Given the description of an element on the screen output the (x, y) to click on. 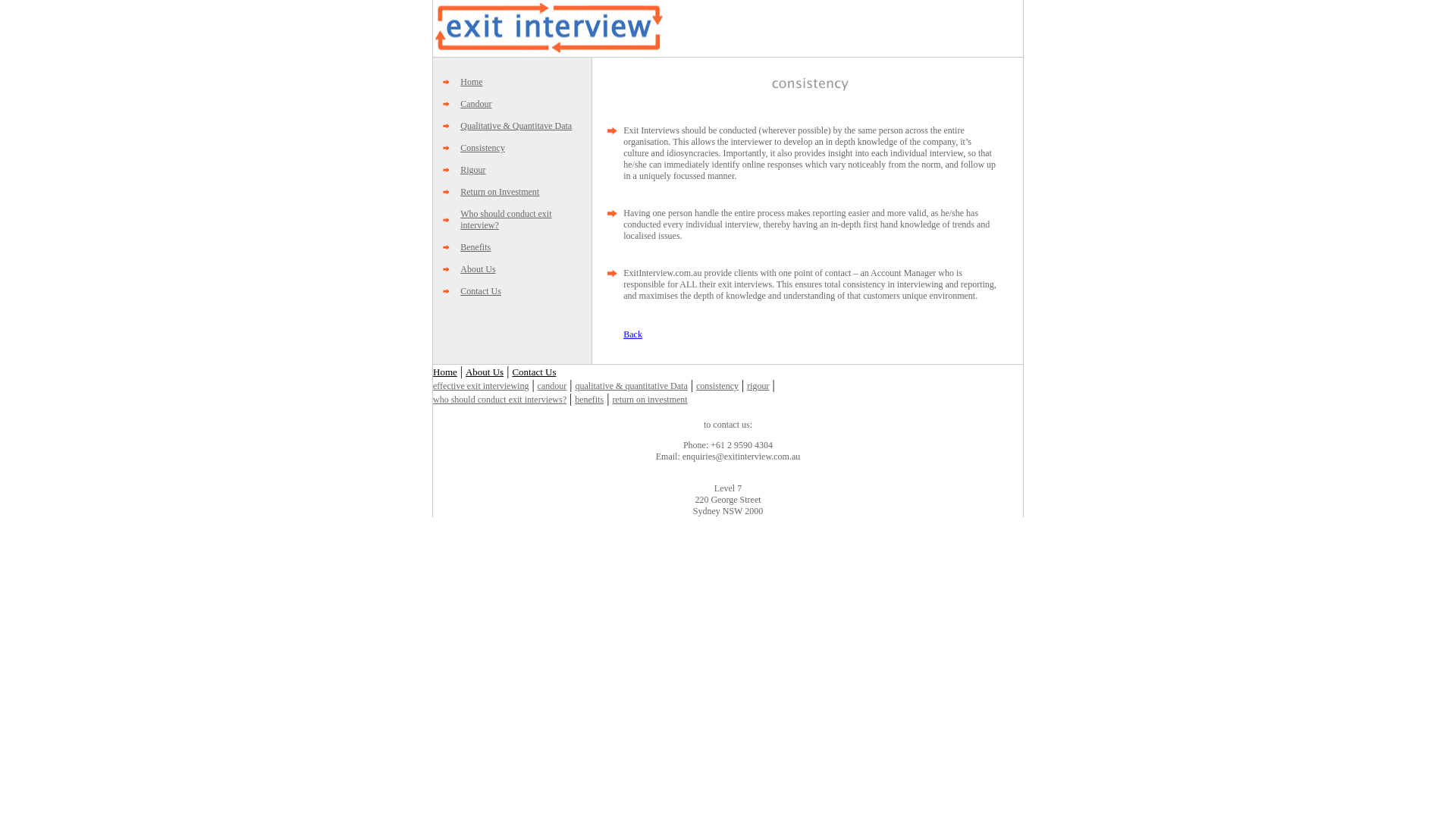
consistency Element type: text (717, 385)
Benefits Element type: text (475, 246)
Back Element type: text (632, 334)
Return on Investment Element type: text (499, 191)
qualitative & quantitative Data Element type: text (630, 385)
benefits Element type: text (588, 399)
return on investment Element type: text (649, 399)
Who should conduct exit interview? Element type: text (505, 219)
Qualitative & Quantitave Data Element type: text (515, 125)
Candour Element type: text (475, 103)
About Us Element type: text (484, 371)
Contact Us Element type: text (533, 371)
Contact Us Element type: text (480, 290)
Home Element type: text (445, 371)
rigour Element type: text (757, 385)
who should conduct exit interviews? Element type: text (499, 399)
Home Element type: text (471, 81)
candour Element type: text (552, 385)
About Us Element type: text (477, 268)
Rigour Element type: text (472, 169)
Consistency Element type: text (482, 147)
effective exit interviewing Element type: text (480, 385)
